Given the description of an element on the screen output the (x, y) to click on. 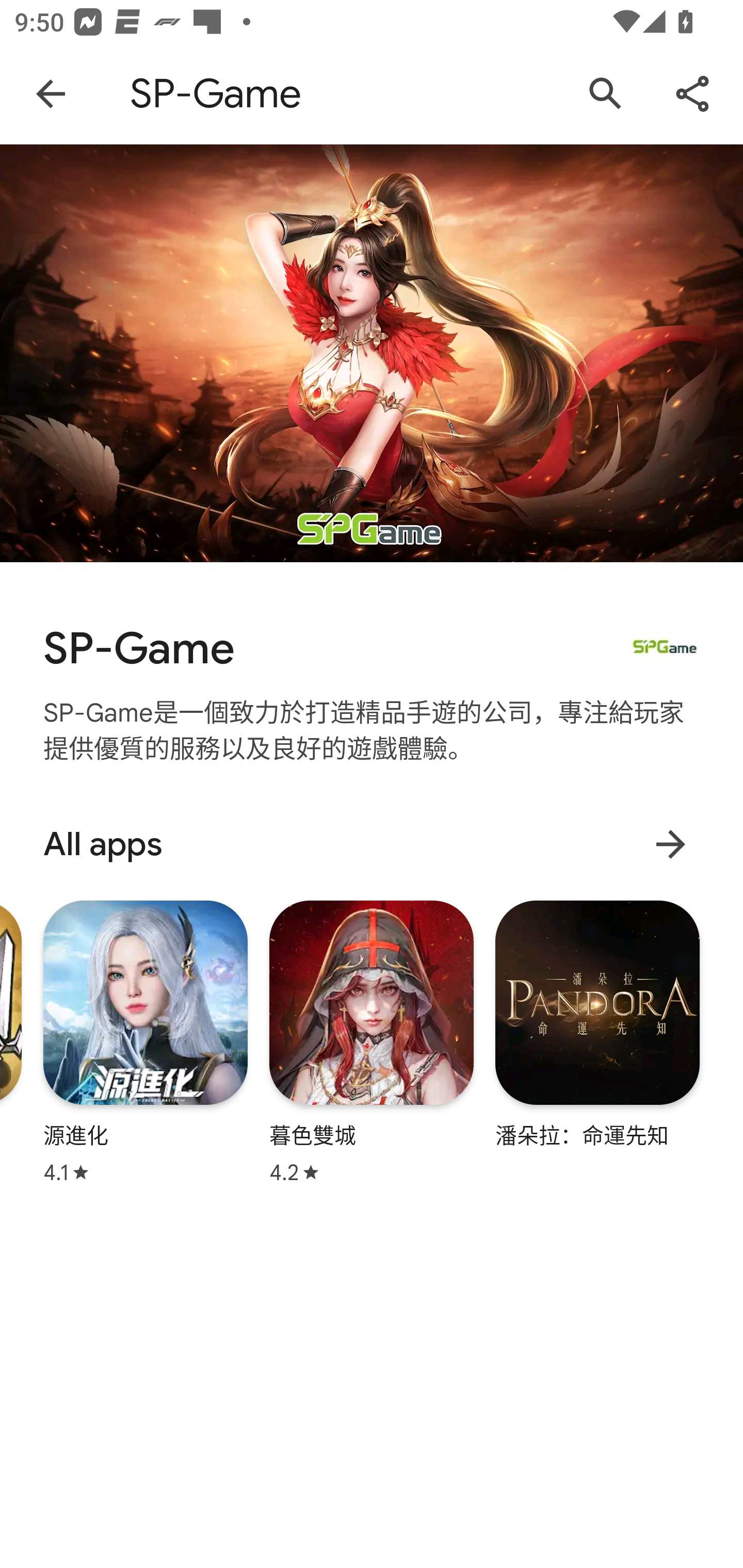
Navigate up (50, 93)
Search Google Play (605, 93)
Share (692, 93)
All apps More results for All apps (371, 844)
More results for All apps (670, 844)
源進化
Star rating: 4.1
 (145, 1041)
暮色雙城
Star rating: 4.2
 (371, 1041)
潘朵拉：命運先知
 (597, 1023)
